Given the description of an element on the screen output the (x, y) to click on. 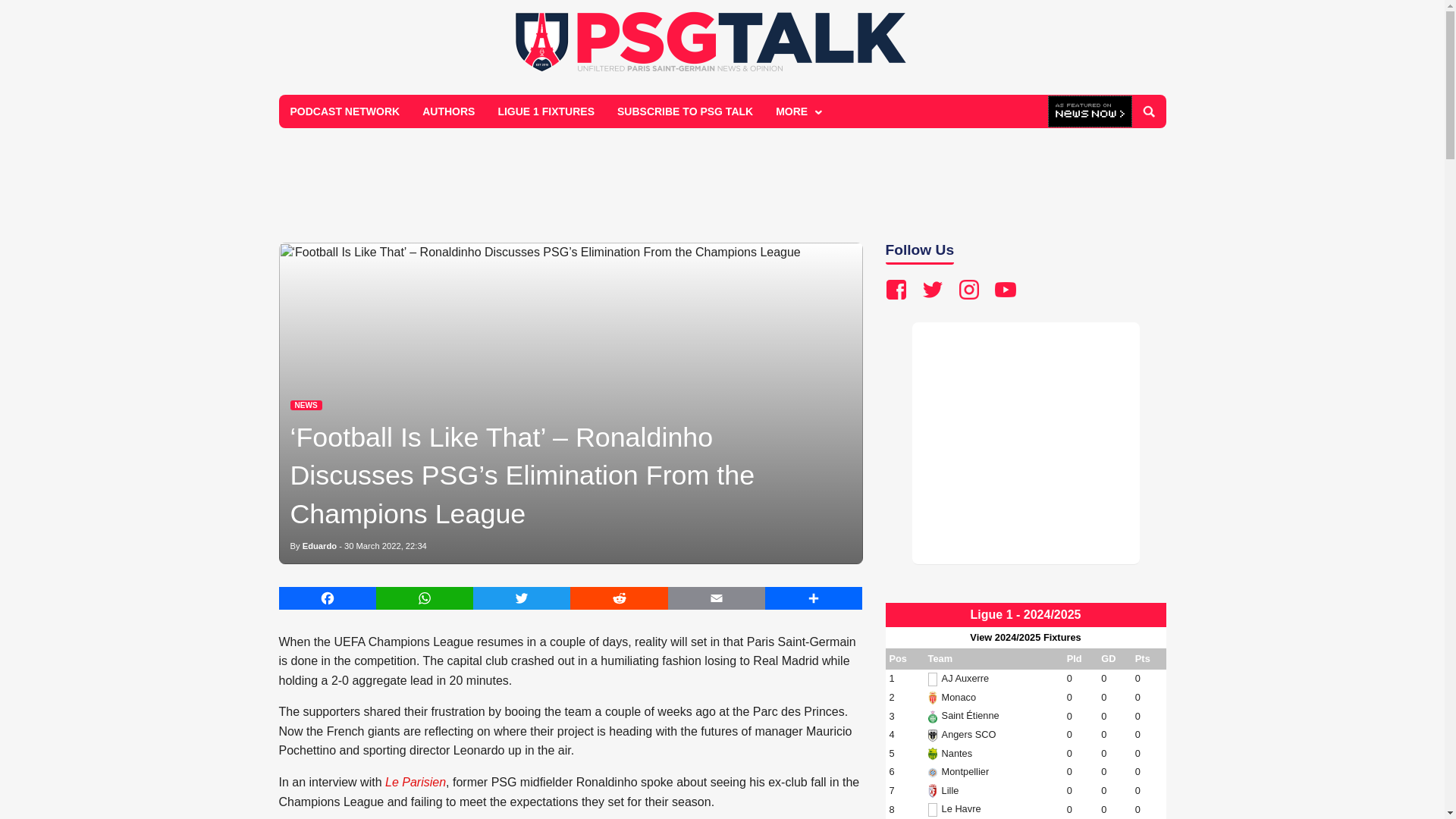
30 March 2022, 22:34 (384, 545)
Reddit (618, 598)
Reddit (618, 598)
LIGUE 1 FIXTURES (545, 111)
AUTHORS (448, 111)
WhatsApp (424, 598)
Twitter (521, 598)
Latest News News (305, 405)
Email (716, 598)
Search (1147, 111)
Eduardo (319, 545)
Le Parisien (415, 781)
Click here for more PSG news from NewsNow (1090, 111)
SUBSCRIBE TO PSG TALK (684, 111)
Facebook (327, 598)
